Given the description of an element on the screen output the (x, y) to click on. 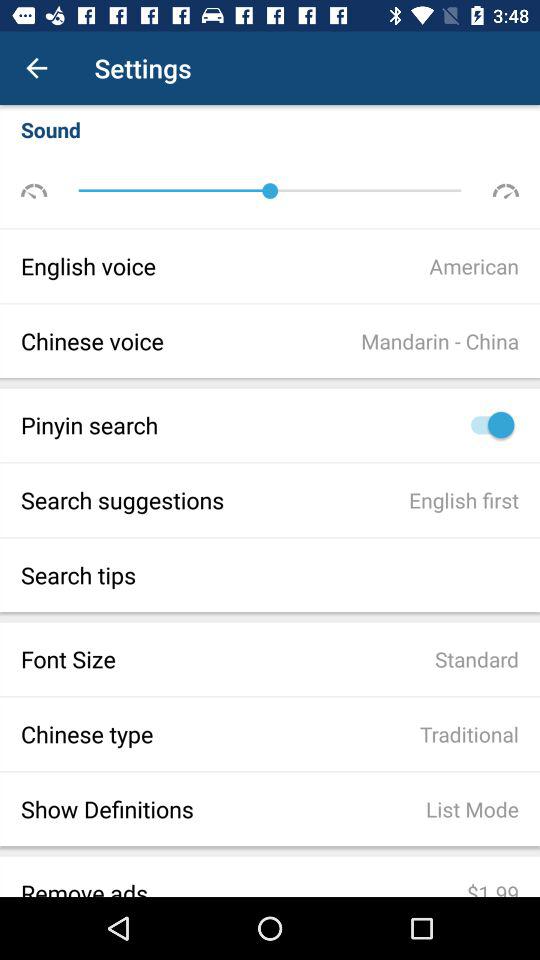
toggle pinyin option (487, 424)
